Given the description of an element on the screen output the (x, y) to click on. 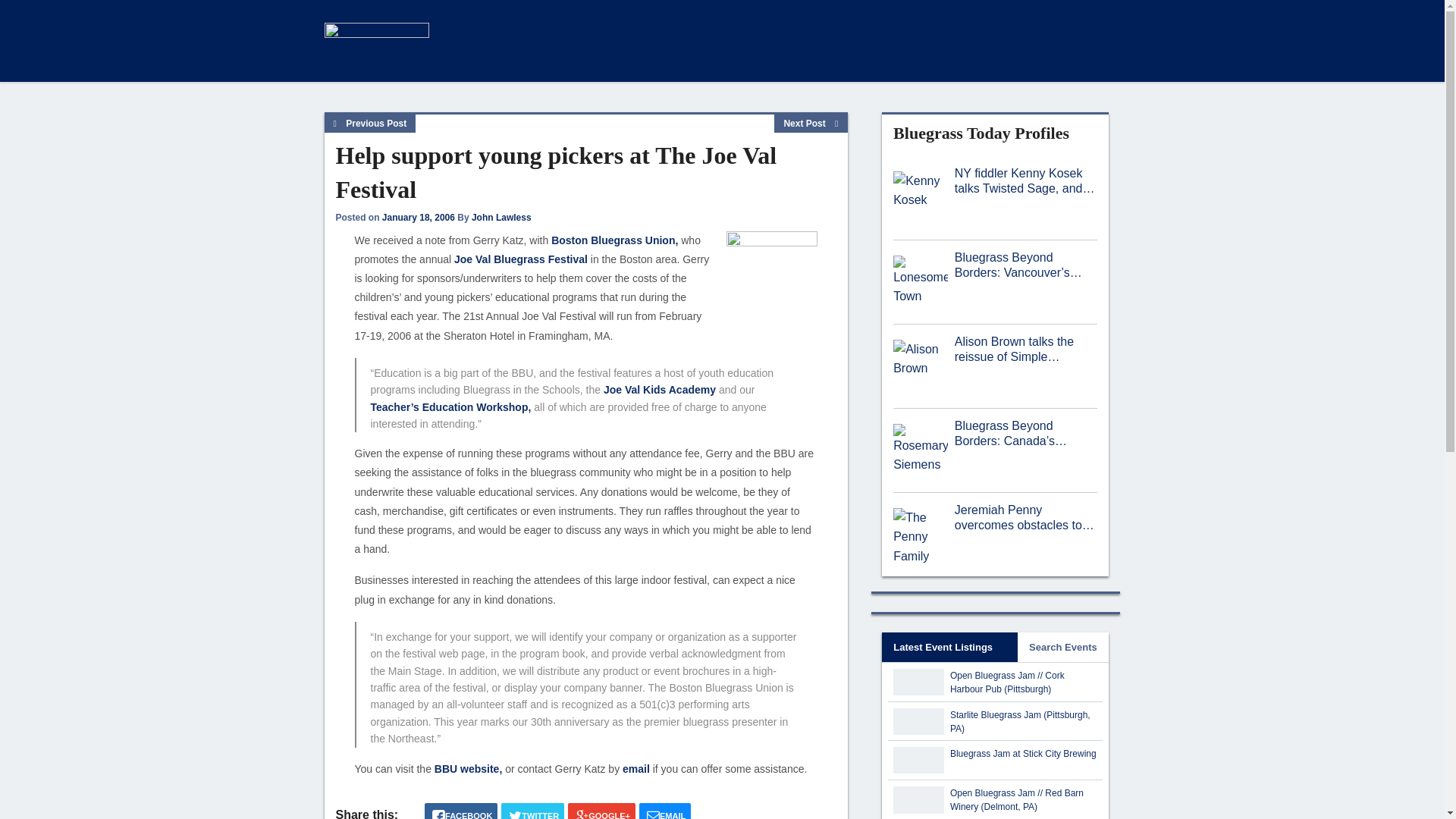
January 18, 2006 (417, 217)
Previous Post (370, 123)
Joe Val Kids Academy (660, 389)
Boston Bluegrass Union, (614, 240)
email (636, 768)
BBU website, (467, 768)
Next Post (810, 123)
John Lawless (501, 217)
Joe Val Bluegrass Festival (521, 259)
FACEBOOK (461, 811)
